Given the description of an element on the screen output the (x, y) to click on. 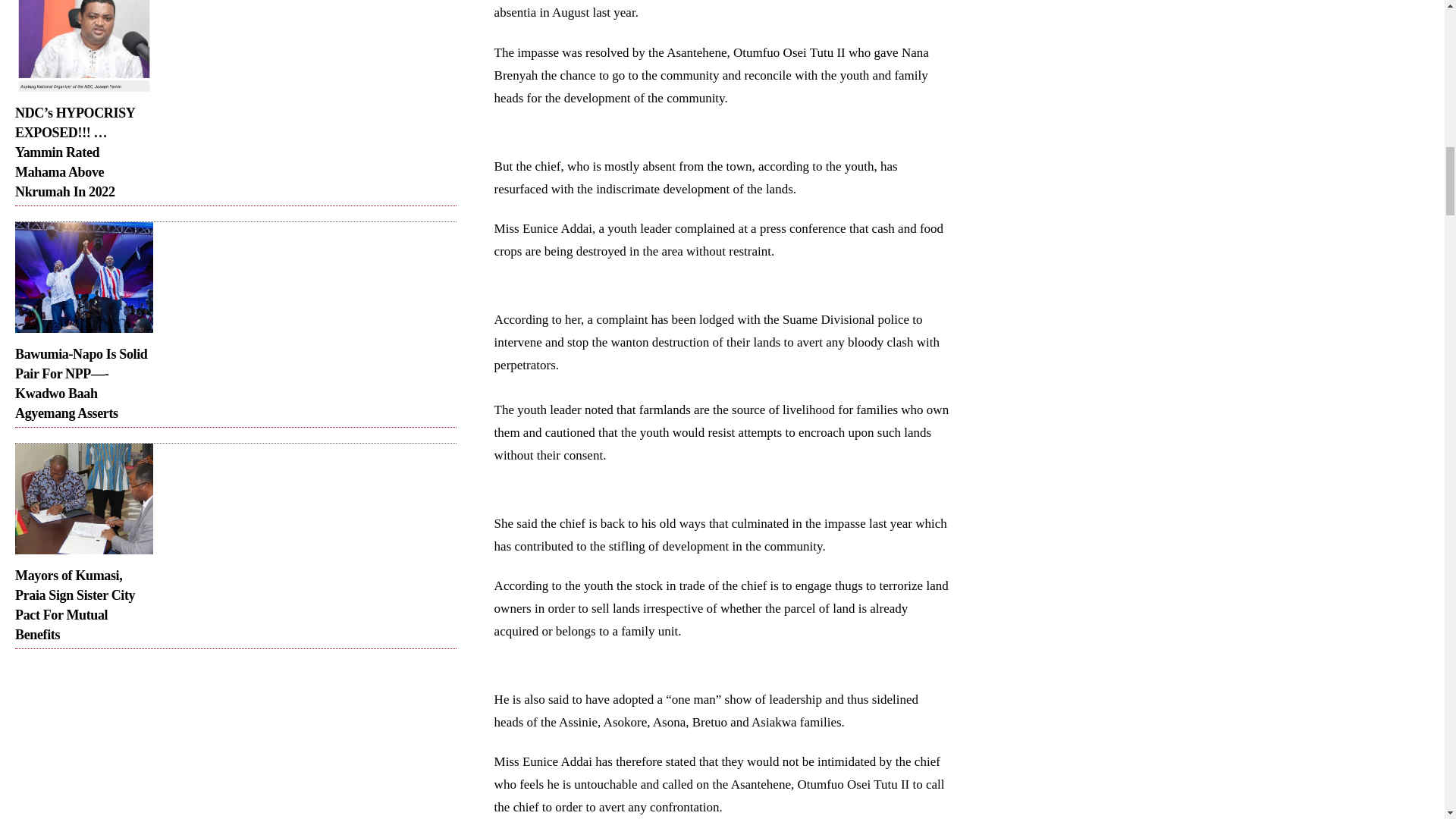
IMG-20240711-WA0373 (83, 45)
IMG-20240710-WA0089 (83, 276)
